Given the description of an element on the screen output the (x, y) to click on. 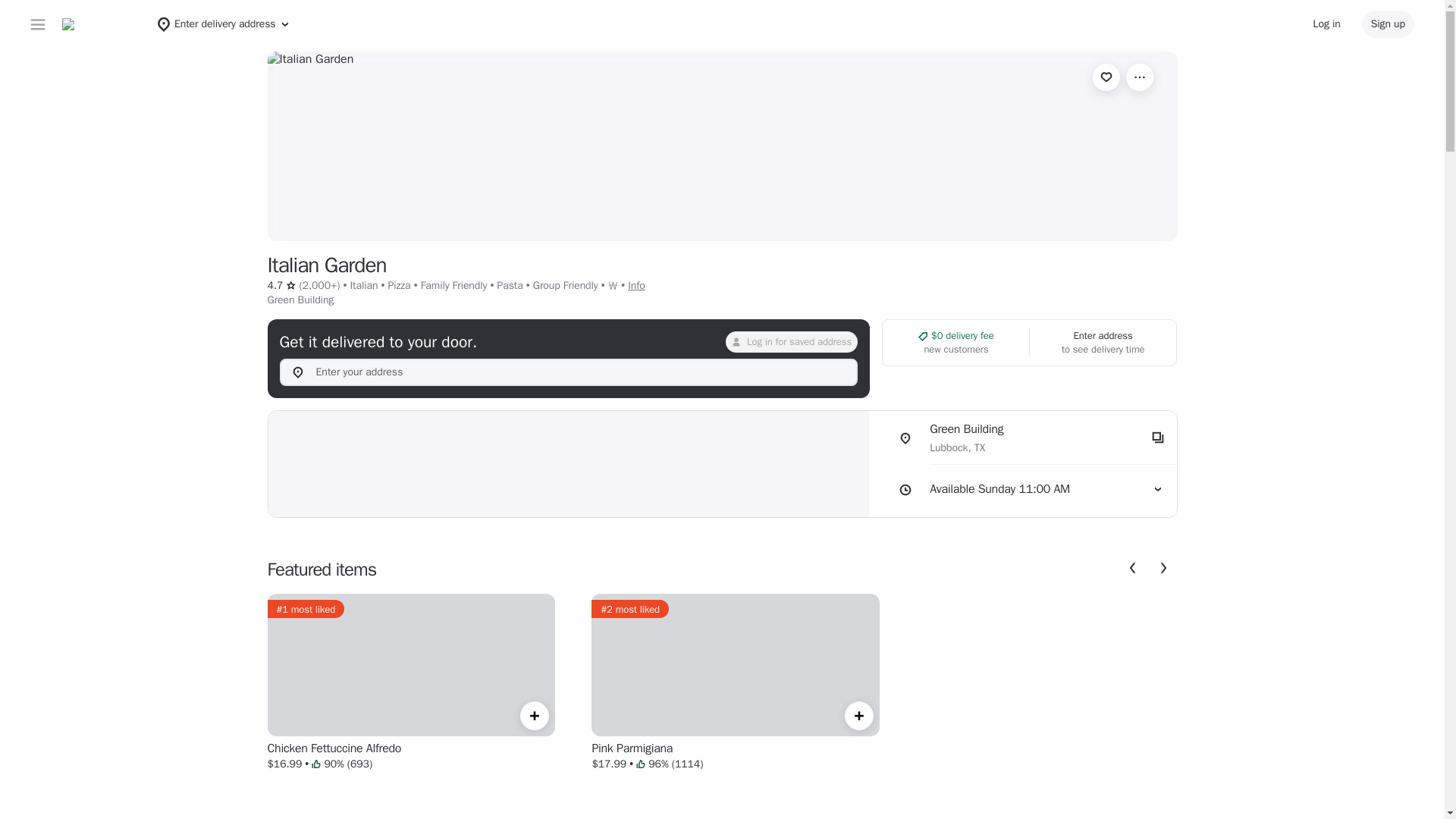
Log in (1326, 23)
Info (636, 285)
Available Sunday 11:00 AM (1028, 489)
View more options (1139, 76)
Log in for saved address (791, 341)
Sign up (1387, 23)
Add to favorites (1105, 76)
